Given the description of an element on the screen output the (x, y) to click on. 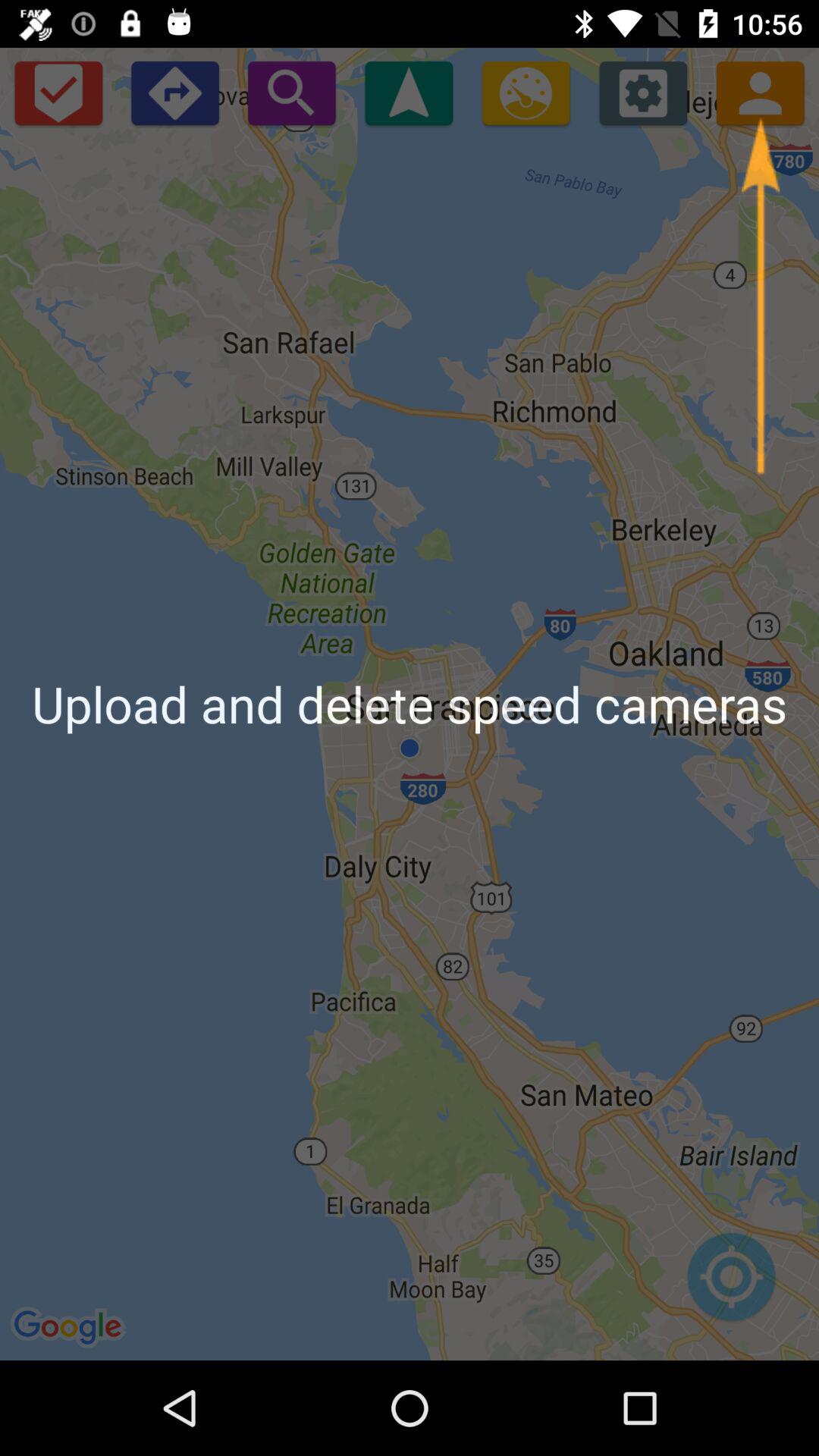
contacts option (760, 92)
